Given the description of an element on the screen output the (x, y) to click on. 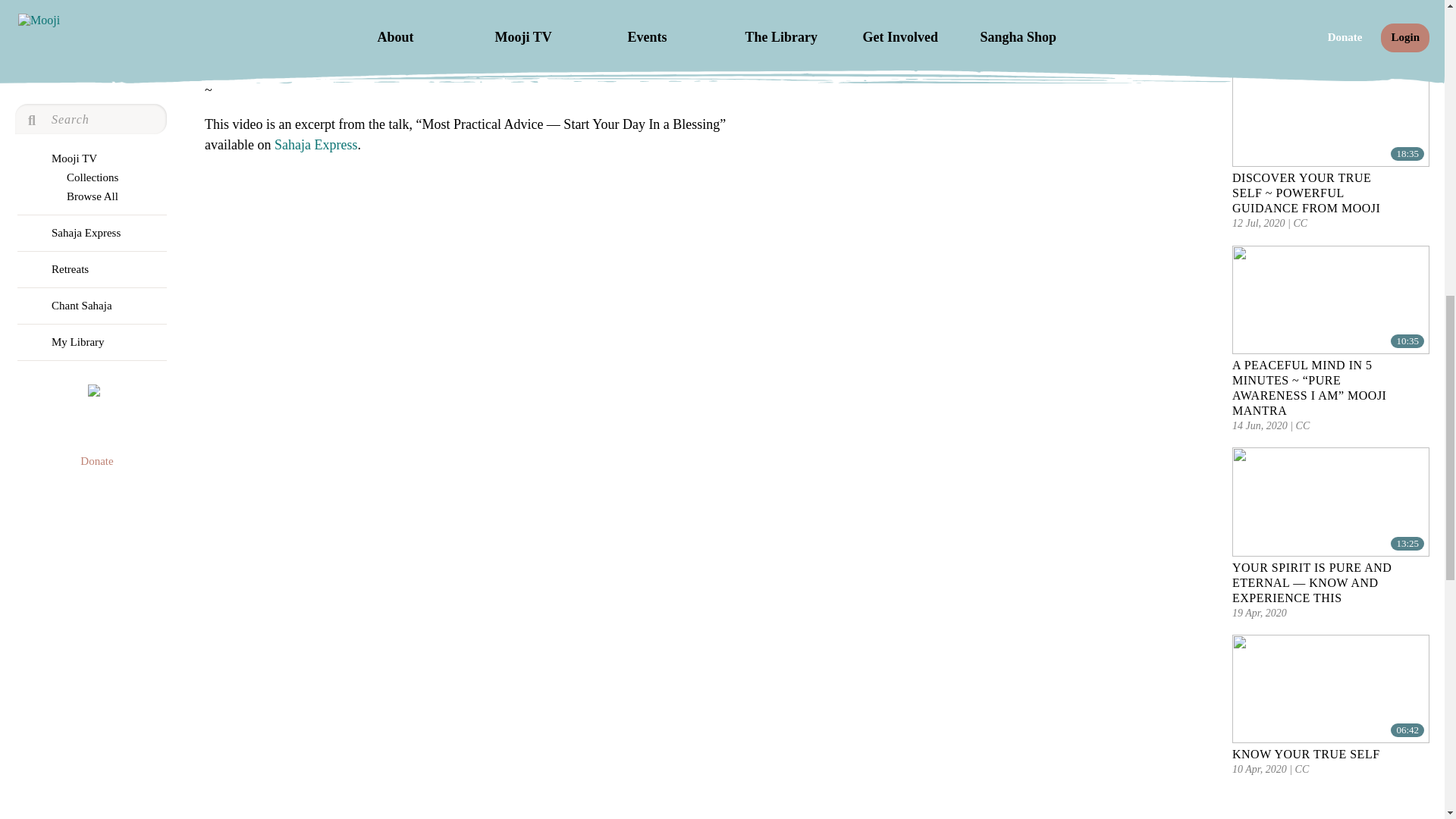
Favourite (1421, 370)
Favourite (1421, 183)
Favourite (1421, 759)
Favourite (1421, 11)
Watch a randomly chosen video (93, 147)
Favourite (1421, 572)
